Given the description of an element on the screen output the (x, y) to click on. 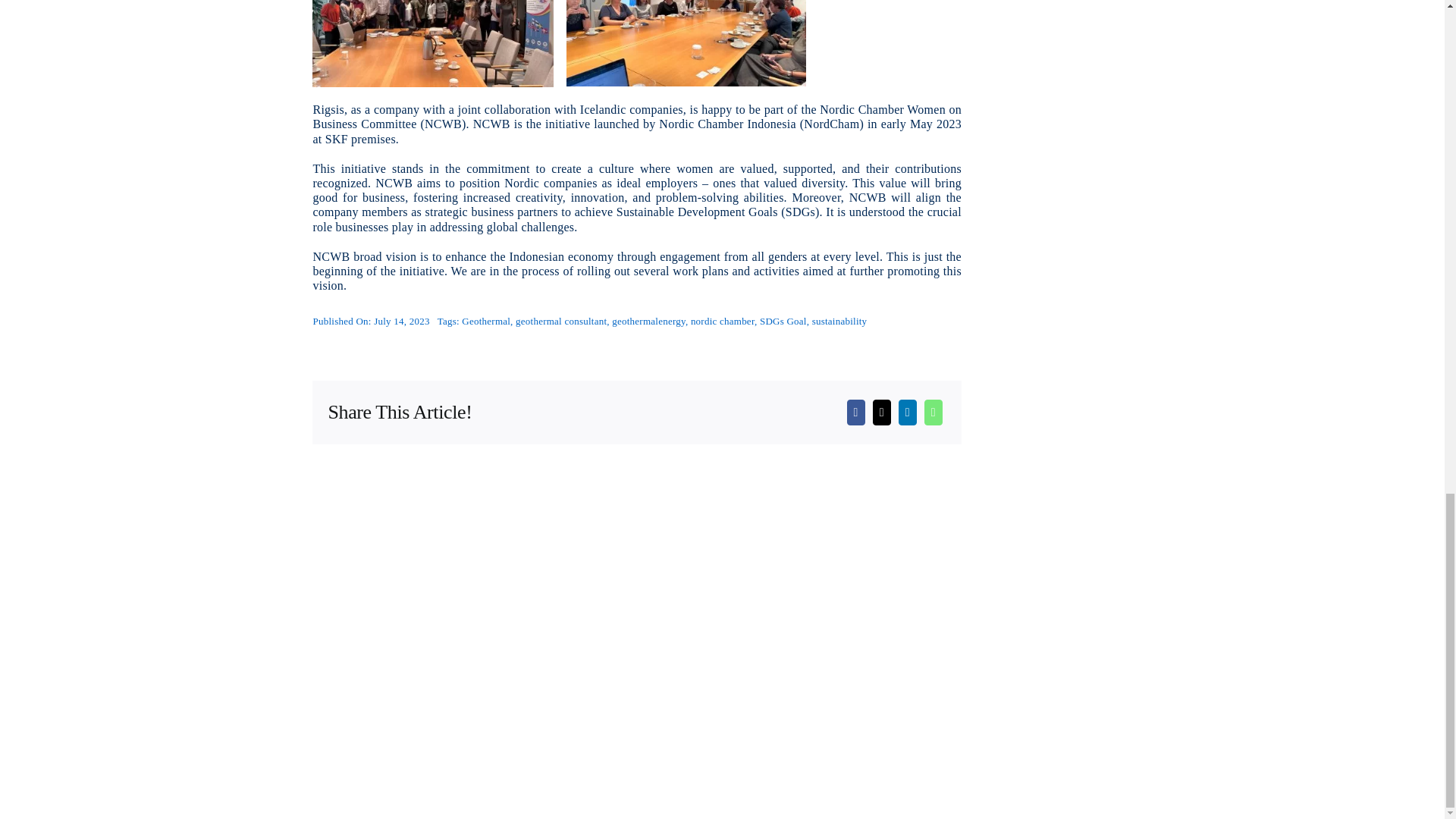
SDGs Goal (783, 320)
sustainability (839, 320)
geothermal consultant (561, 320)
geothermalenergy (648, 320)
nordic chamber (722, 320)
Geothermal (486, 320)
